Given the description of an element on the screen output the (x, y) to click on. 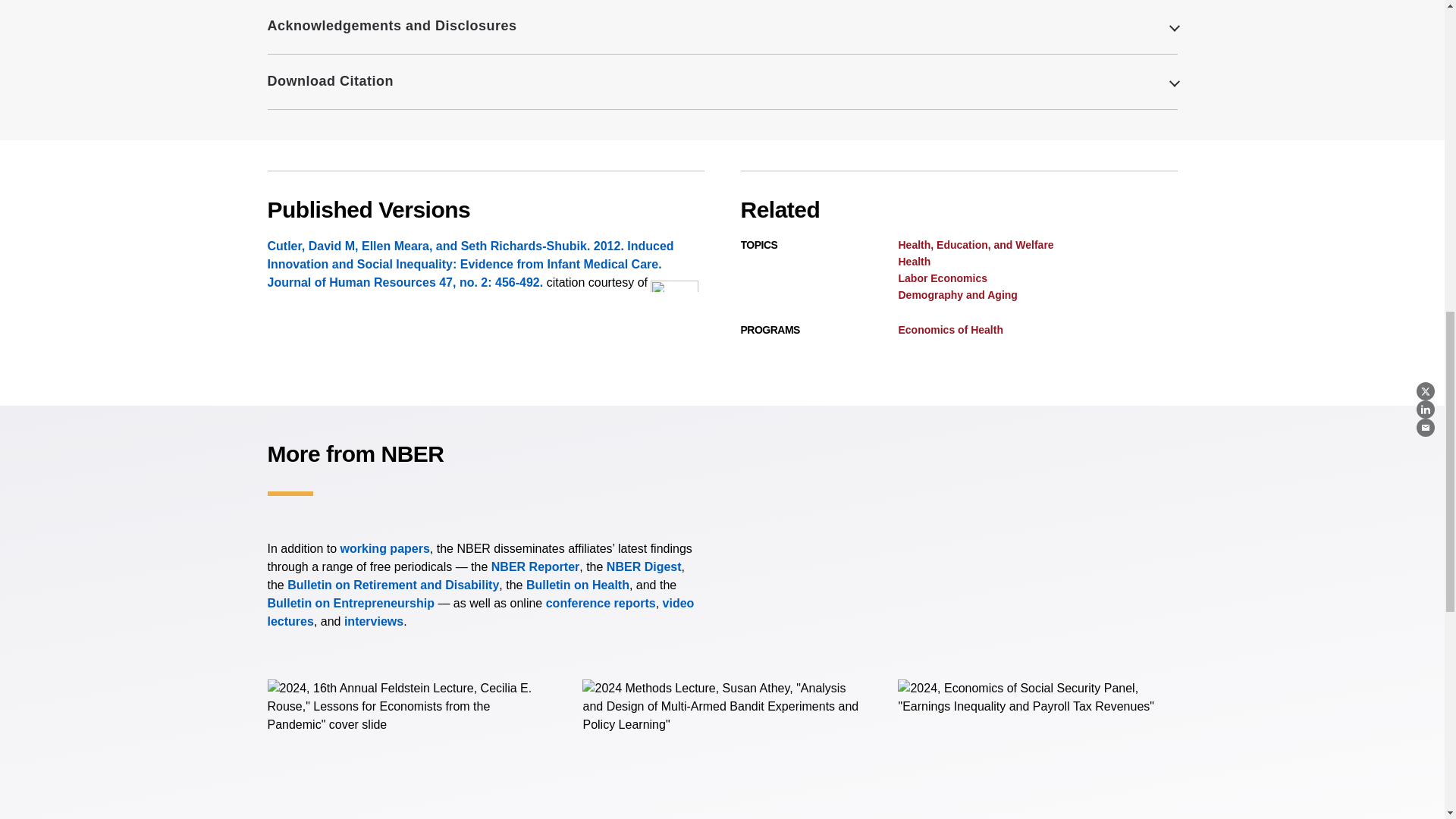
Conferences (601, 603)
Research Spotlights (373, 621)
Working Papers (384, 548)
Lectures (480, 612)
